Given the description of an element on the screen output the (x, y) to click on. 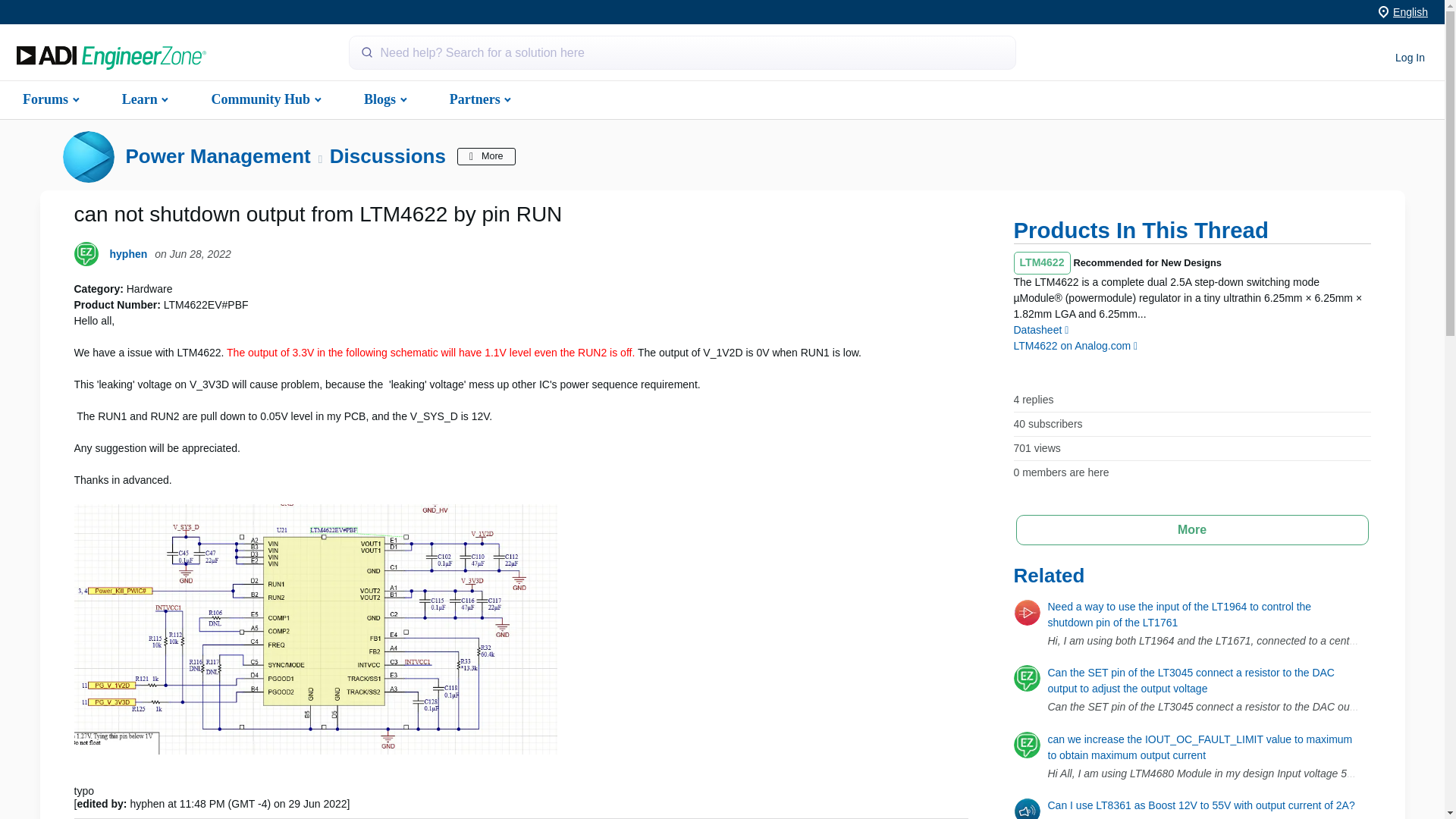
Join or sign in (1409, 57)
Forums (49, 98)
English (1410, 11)
Home (111, 57)
Log In (1409, 57)
